Given the description of an element on the screen output the (x, y) to click on. 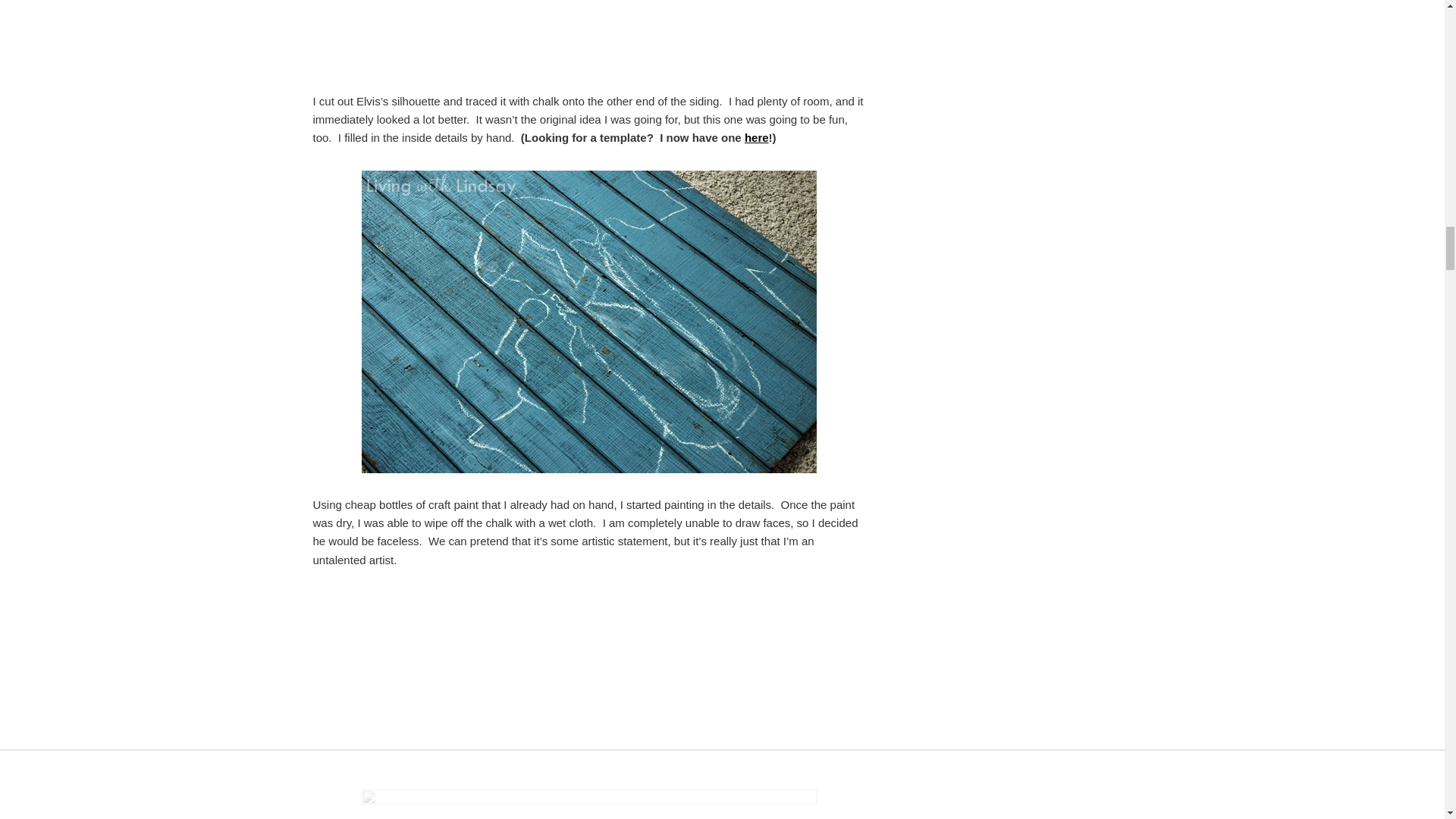
ElvisPaint (588, 804)
here (756, 137)
